Given the description of an element on the screen output the (x, y) to click on. 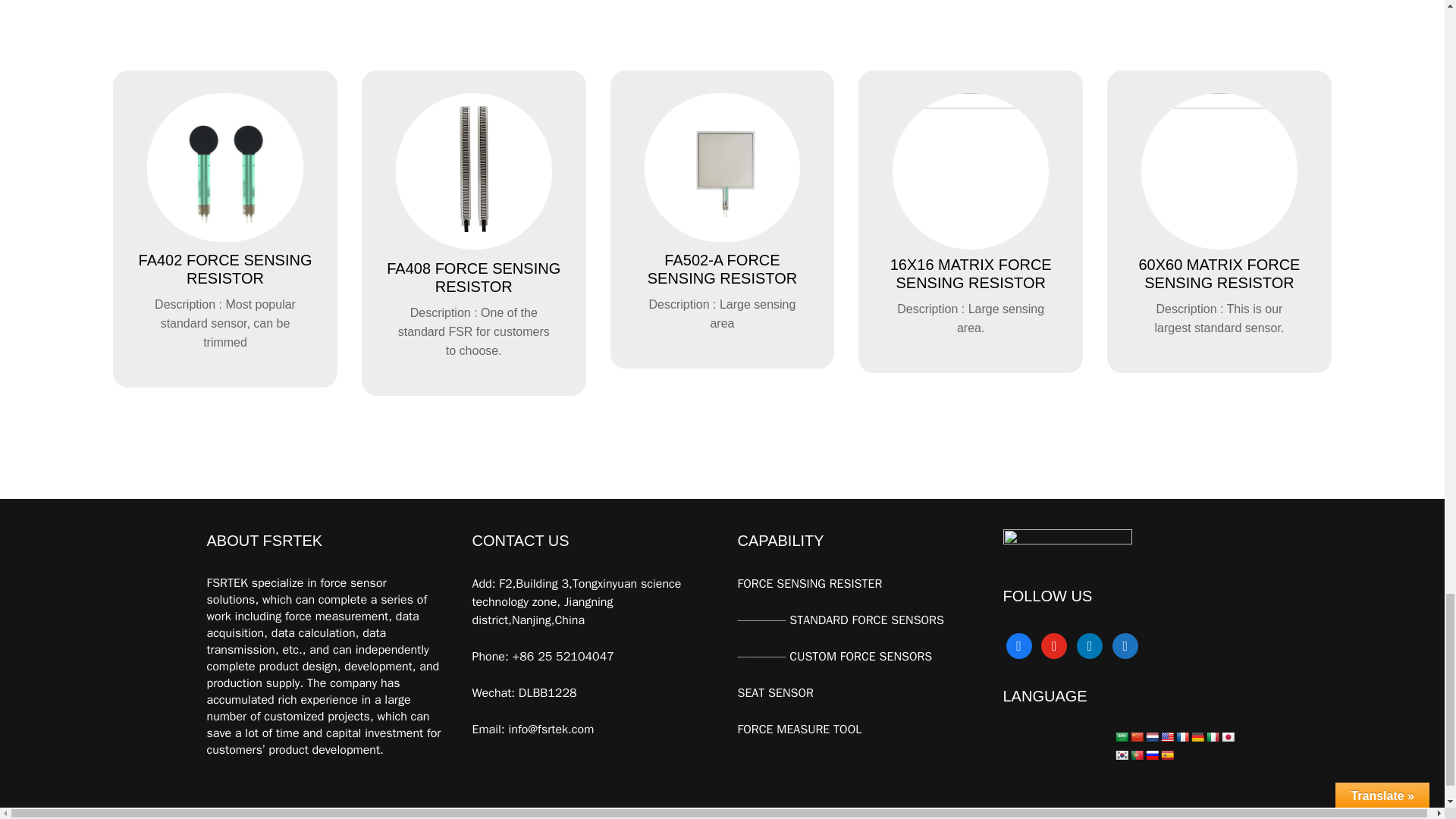
German (1197, 736)
Italian (1212, 736)
Portuguese (1135, 755)
Default Label (1125, 645)
Korean (1121, 755)
Spanish (1166, 755)
Default Label (1054, 645)
French (1181, 736)
Default Label (1089, 645)
Russian (1151, 755)
